Given the description of an element on the screen output the (x, y) to click on. 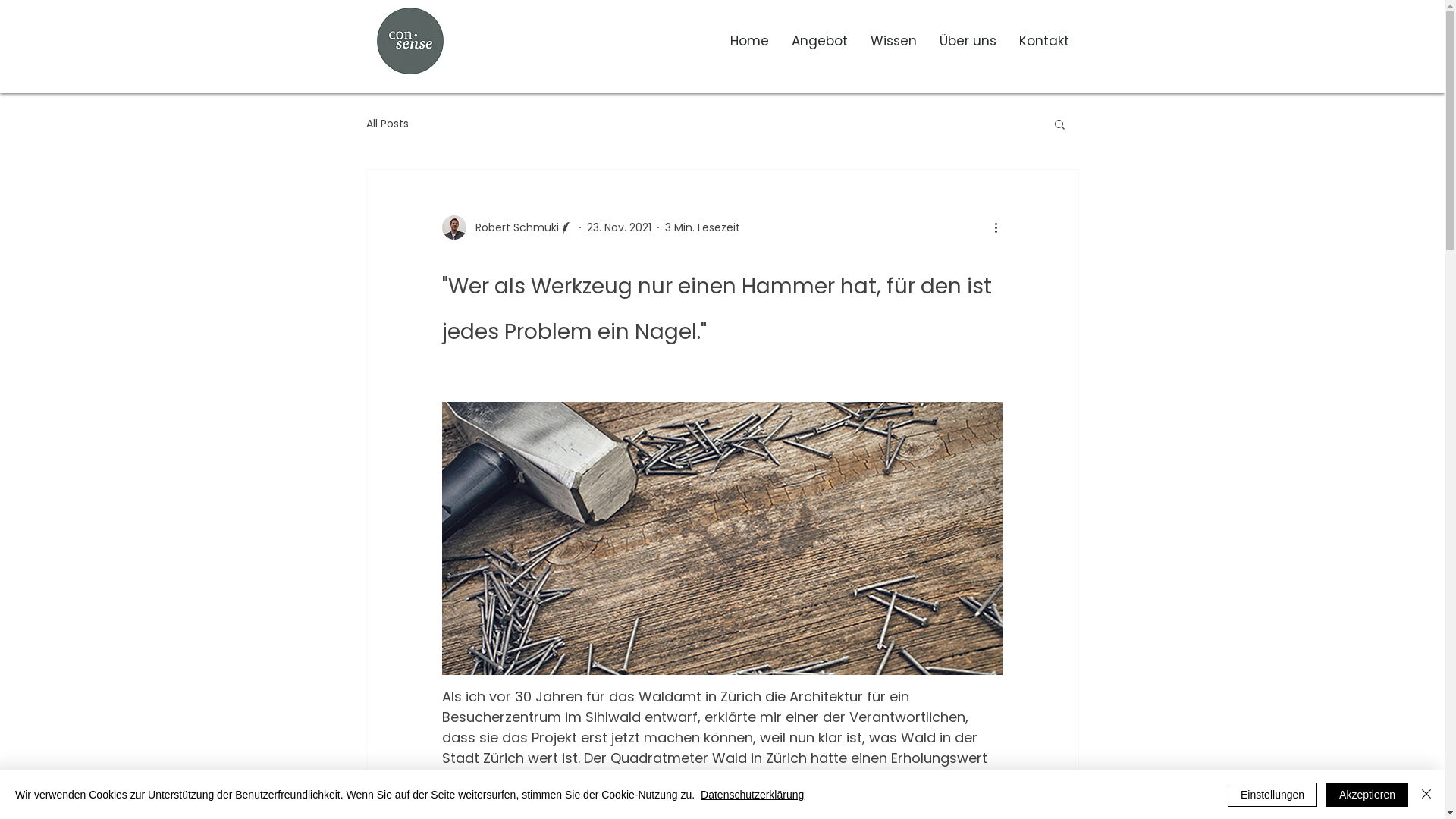
All Posts Element type: text (386, 123)
Angebot Element type: text (818, 40)
Robert Schmuki Element type: text (506, 227)
Wissen Element type: text (892, 40)
Einstellungen Element type: text (1272, 794)
Kontakt Element type: text (1043, 40)
Akzeptieren Element type: text (1367, 794)
Home Element type: text (749, 40)
